Given the description of an element on the screen output the (x, y) to click on. 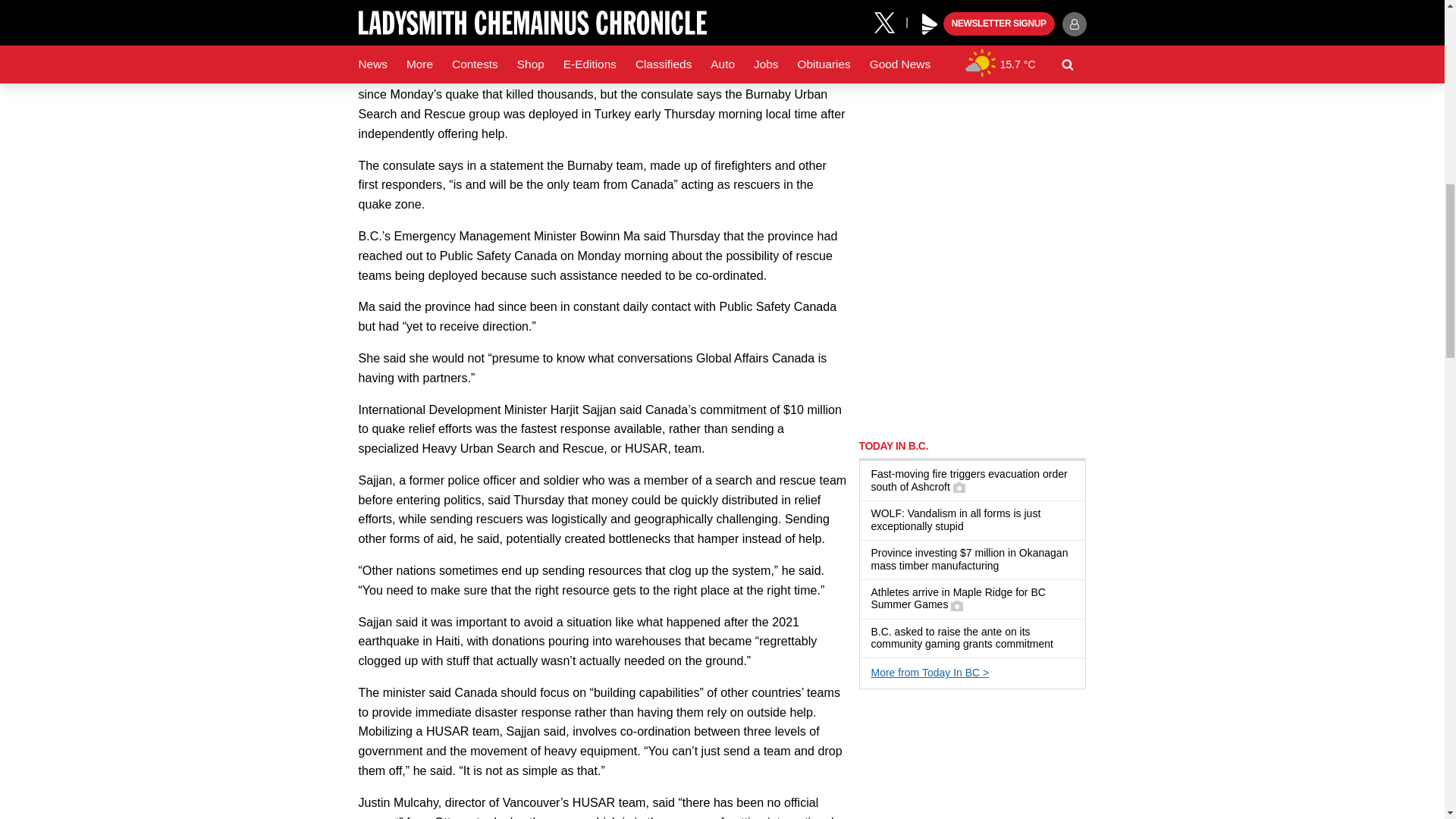
Has a gallery (959, 487)
Has a gallery (956, 605)
3rd party ad content (972, 329)
3rd party ad content (972, 124)
3rd party ad content (972, 761)
